Given the description of an element on the screen output the (x, y) to click on. 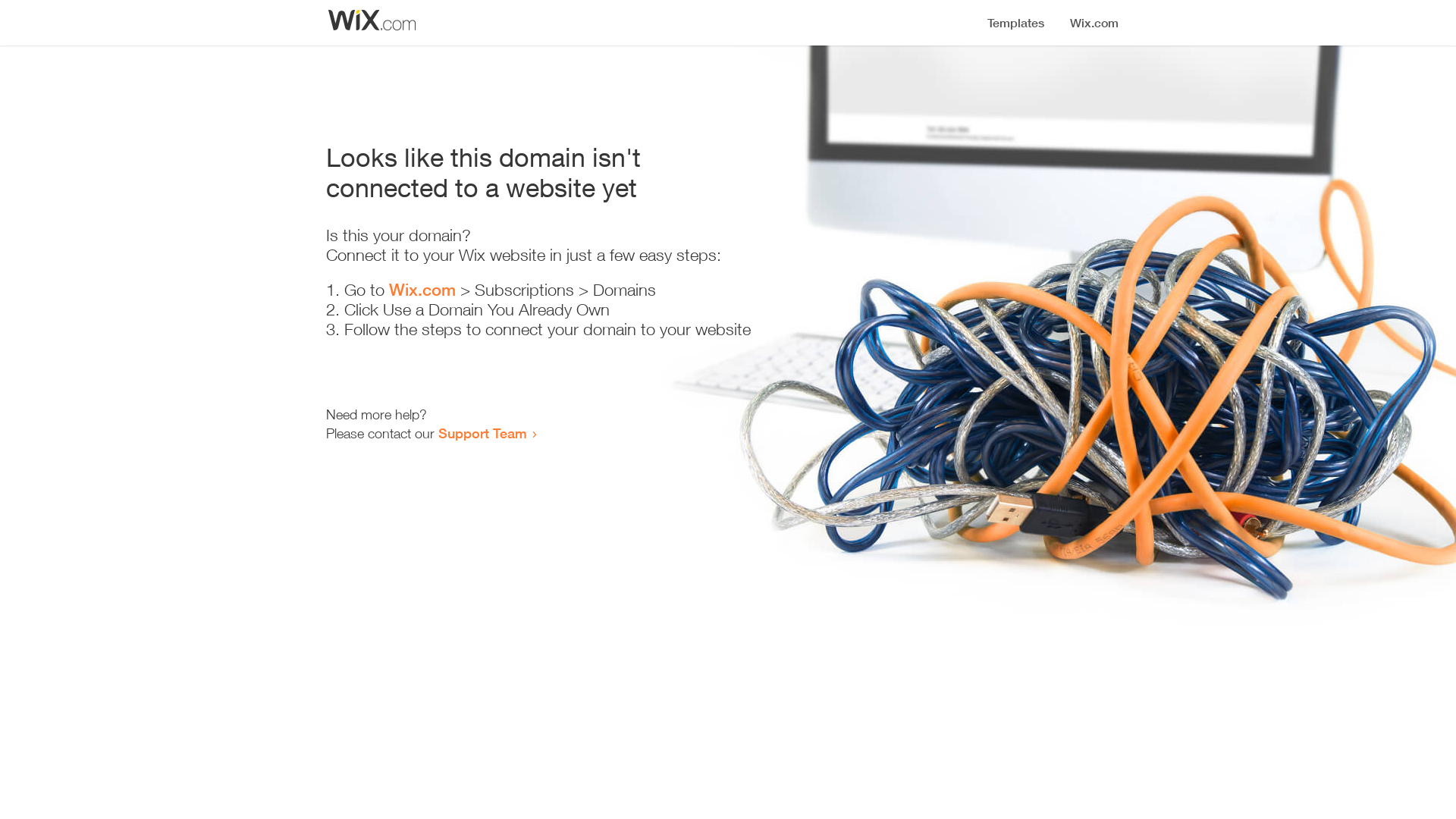
Wix.com Element type: text (422, 289)
Support Team Element type: text (482, 432)
